Given the description of an element on the screen output the (x, y) to click on. 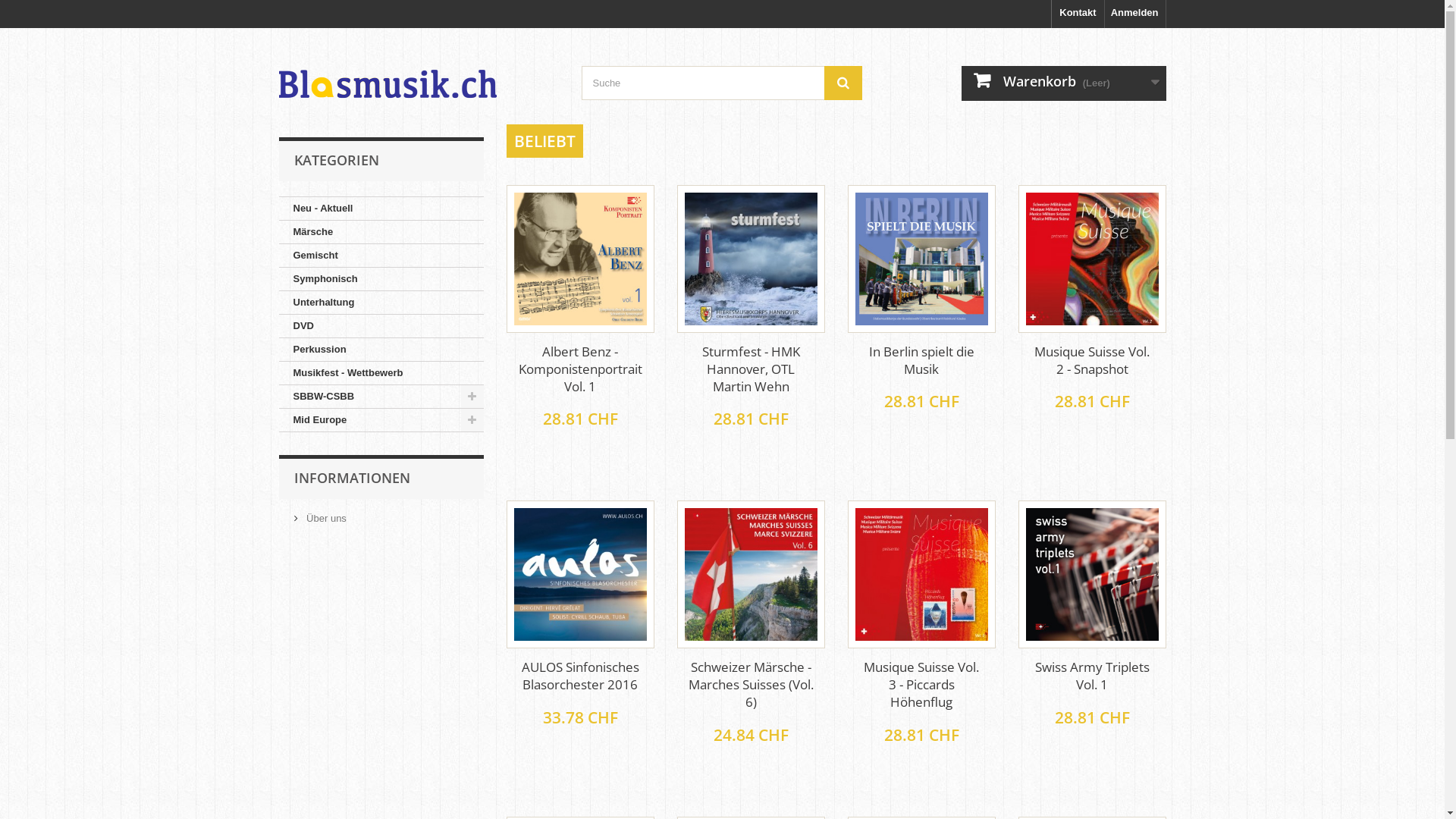
BELIEBT Element type: text (544, 140)
DVD Element type: text (381, 326)
Sturmfest - HMK Hannover, OTL Martin Wehn Element type: hover (750, 258)
Unterhaltung Element type: text (381, 302)
INFORMATIONEN Element type: text (352, 477)
Symphonisch Element type: text (381, 279)
Swiss Army Triplets Vol. 1 Element type: hover (1091, 574)
Albert Benz - Komponistenportrait Vol. 1 Element type: text (579, 368)
Neu - Aktuell Element type: text (381, 208)
Warenkorb (Leer) Element type: text (1063, 82)
Anmelden Element type: text (1134, 14)
Perkussion Element type: text (381, 349)
In Berlin spielt die Musik Element type: hover (921, 258)
In Berlin spielt die Musik Element type: text (920, 359)
Swiss Army Triplets Vol. 1 Element type: text (1091, 675)
Mid Europe Element type: text (381, 420)
Musique Suisse Vol. 2 - Snapshot Element type: hover (1091, 258)
www.blasmusik.ch Element type: hover (419, 68)
Musikfest - Wettbewerb Element type: text (381, 373)
AULOS Sinfonisches Blasorchester 2016 Element type: hover (580, 574)
SBBW-CSBB Element type: text (381, 396)
Albert Benz - Komponistenportrait Vol. 1 Element type: hover (580, 258)
Gemischt Element type: text (381, 255)
AULOS Sinfonisches Blasorchester 2016 Element type: text (579, 675)
Musique Suisse Vol. 2 - Snapshot Element type: text (1091, 359)
Sturmfest - HMK Hannover, OTL Martin Wehn Element type: text (750, 368)
Kontakt Element type: text (1077, 14)
